Given the description of an element on the screen output the (x, y) to click on. 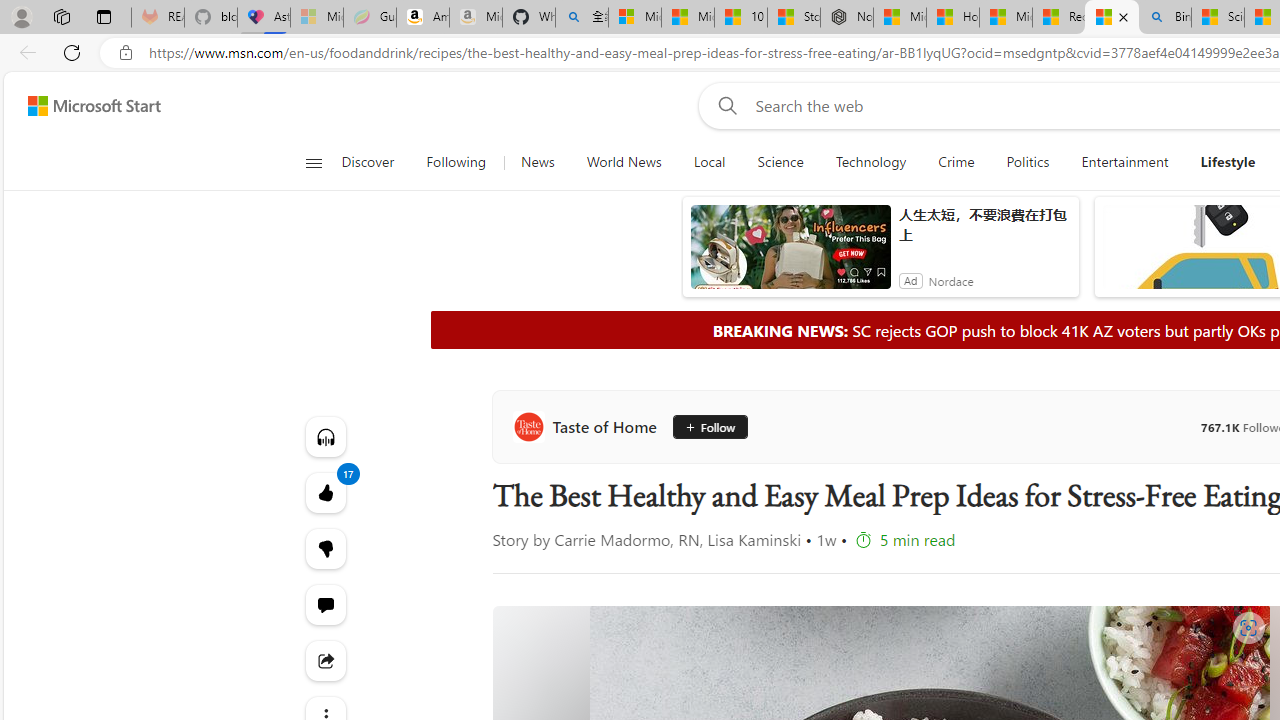
Open navigation menu (313, 162)
anim-content (789, 255)
Entertainment (1124, 162)
Local (708, 162)
Class: button-glyph (313, 162)
Local (709, 162)
Taste of Home (588, 426)
